Given the description of an element on the screen output the (x, y) to click on. 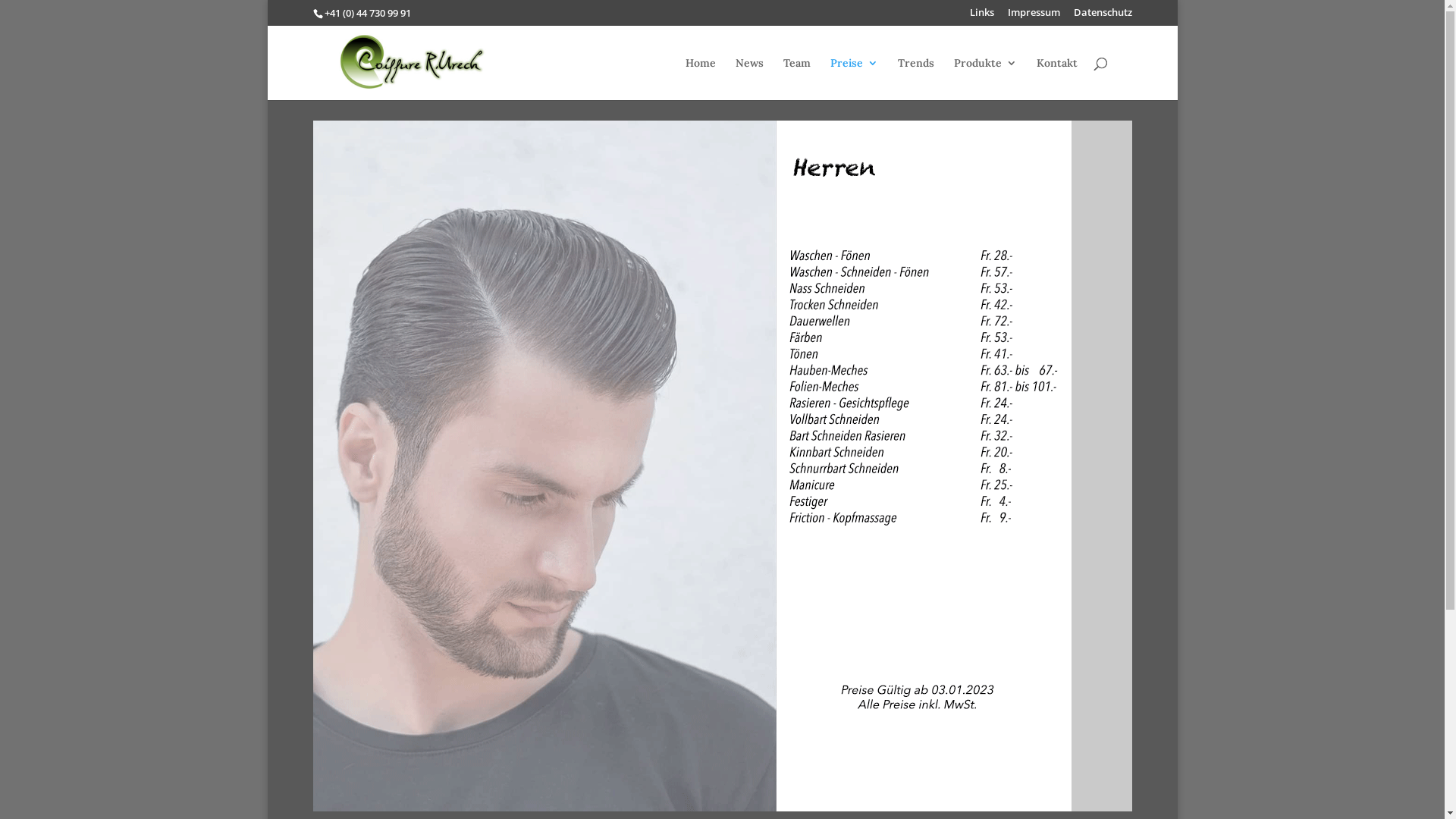
Herren-2023 Element type: hover (691, 464)
Kontakt Element type: text (1055, 78)
Trends Element type: text (915, 78)
Impressum Element type: text (1033, 16)
Links Element type: text (981, 16)
News Element type: text (749, 78)
Preise Element type: text (853, 78)
Home Element type: text (700, 78)
Produkte Element type: text (984, 78)
Datenschutz Element type: text (1102, 16)
Team Element type: text (795, 78)
